Given the description of an element on the screen output the (x, y) to click on. 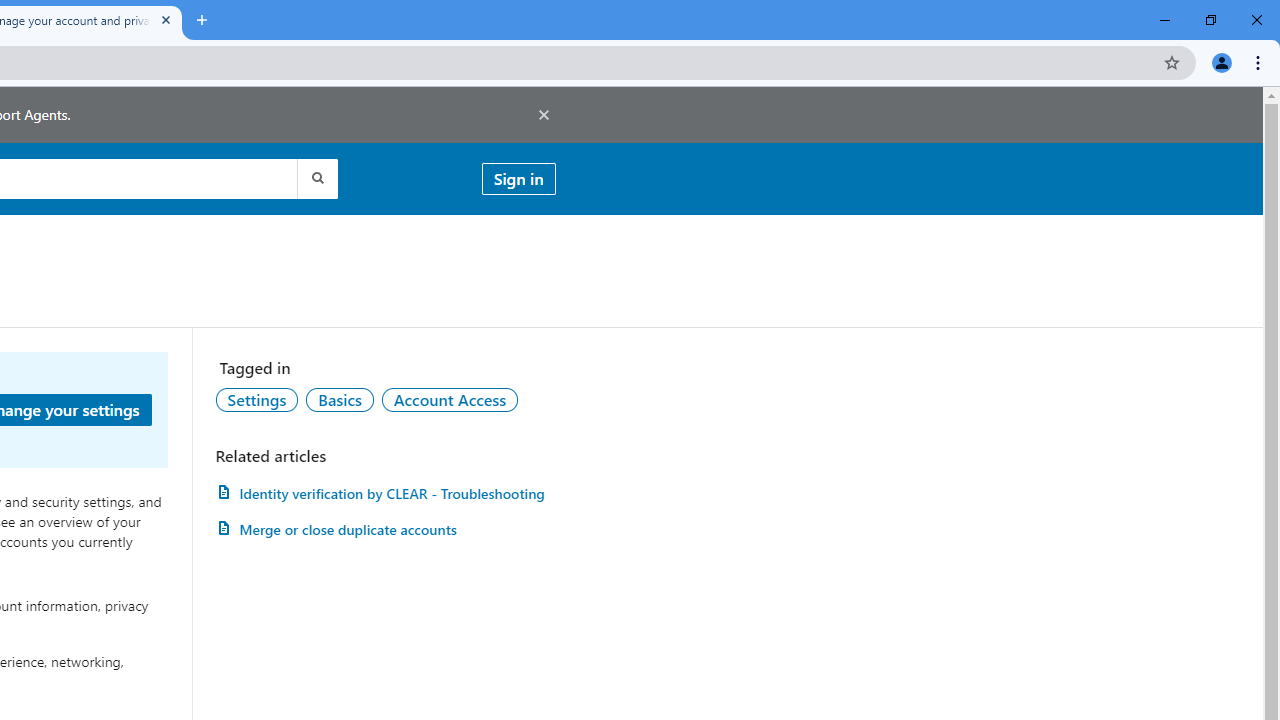
Account Access (449, 399)
Identity verification by CLEAR - Troubleshooting (385, 493)
